Given the description of an element on the screen output the (x, y) to click on. 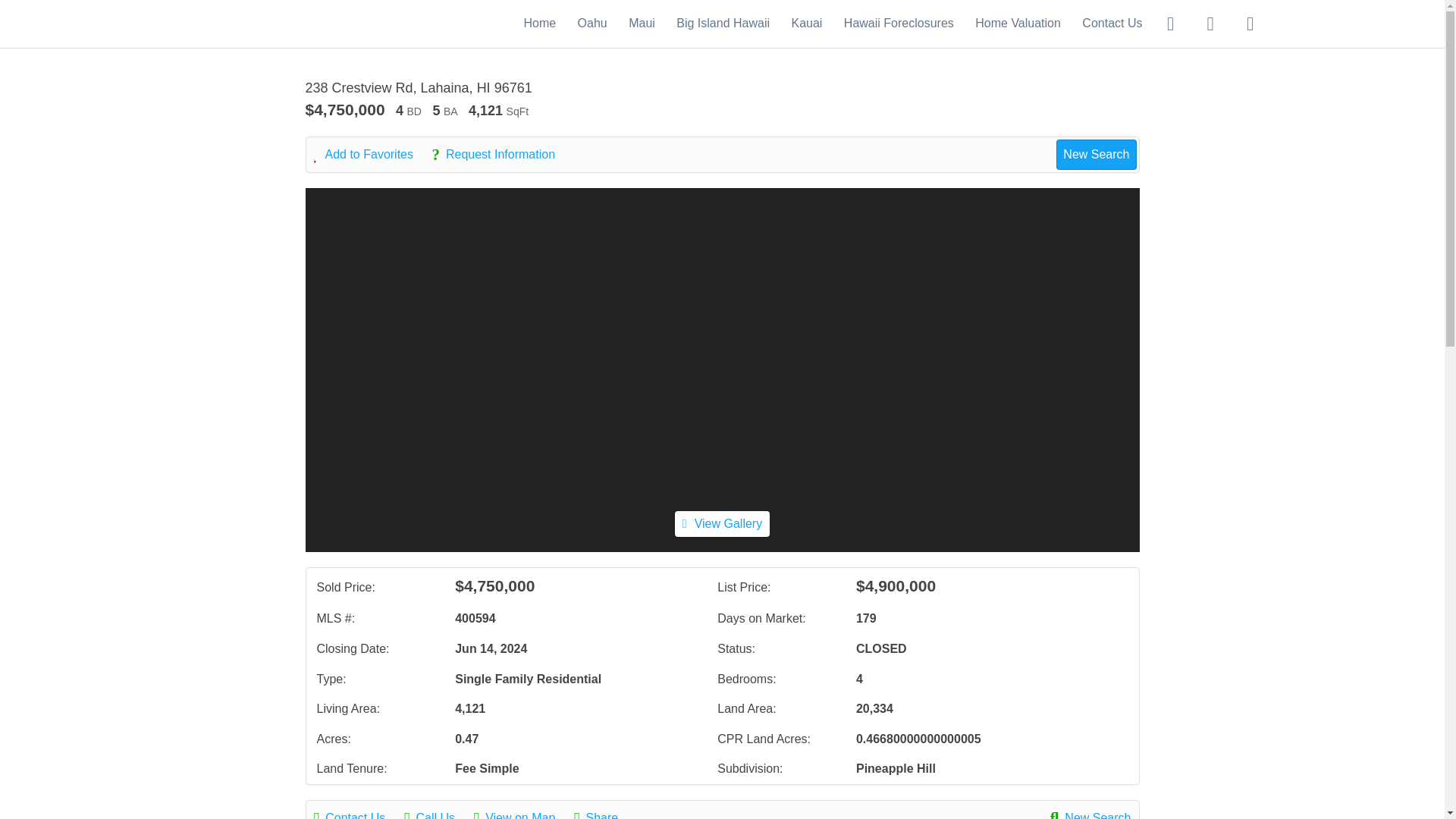
Contact Us (357, 812)
Home (539, 22)
Add to Favorites (371, 154)
Login or Signup (1249, 22)
Home Valuation (1018, 22)
View Gallery (722, 522)
Kauai (806, 22)
Maui (641, 22)
Request Information (500, 154)
Hawaii Foreclosures (898, 22)
Share (603, 812)
Call Us (437, 812)
Contact Us (1111, 22)
New Search (1096, 154)
New Search (1090, 812)
